Given the description of an element on the screen output the (x, y) to click on. 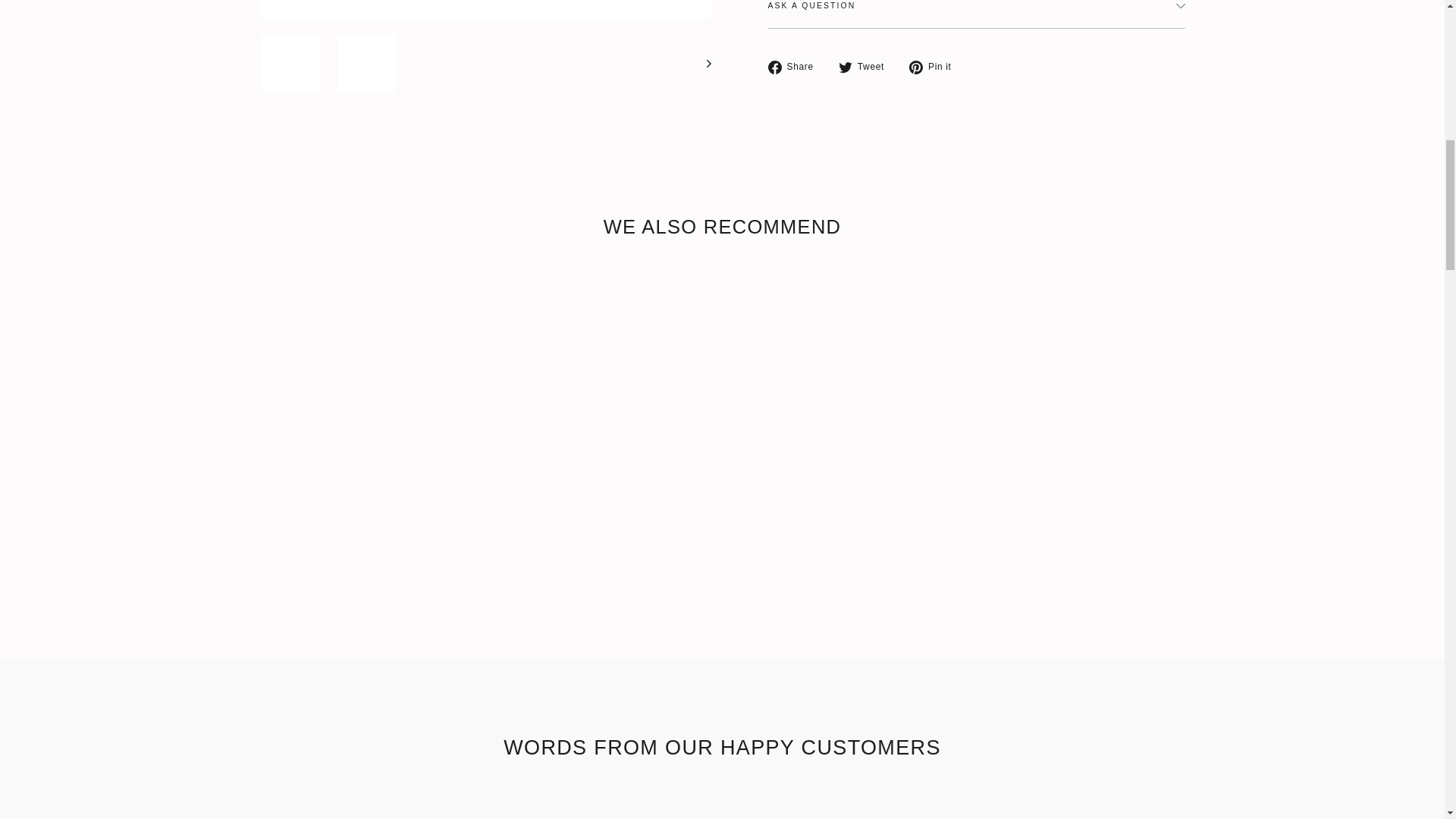
twitter (844, 67)
Pin on Pinterest (935, 66)
Tweet on Twitter (866, 66)
Share on Facebook (795, 66)
